Given the description of an element on the screen output the (x, y) to click on. 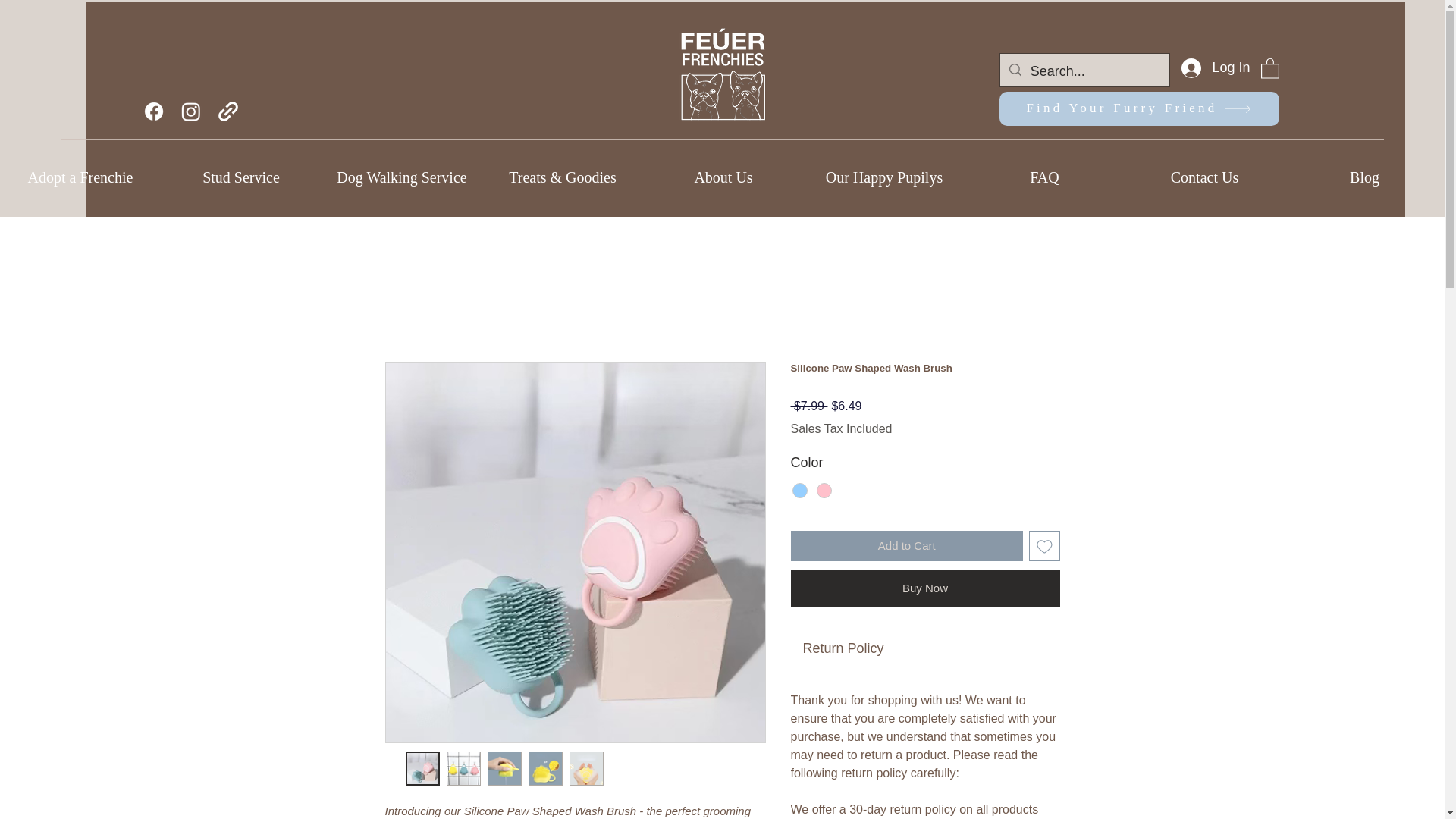
Stud Service (240, 175)
Contact Us (1204, 175)
About Us (723, 175)
Our Happy Pupilys (883, 175)
Dog Walking Service (401, 175)
Log In (1215, 68)
Find Your Furry Friend (1138, 108)
Use right and left arrows to navigate between tabs (842, 648)
Add to Cart (906, 545)
FAQ (1043, 175)
